Given the description of an element on the screen output the (x, y) to click on. 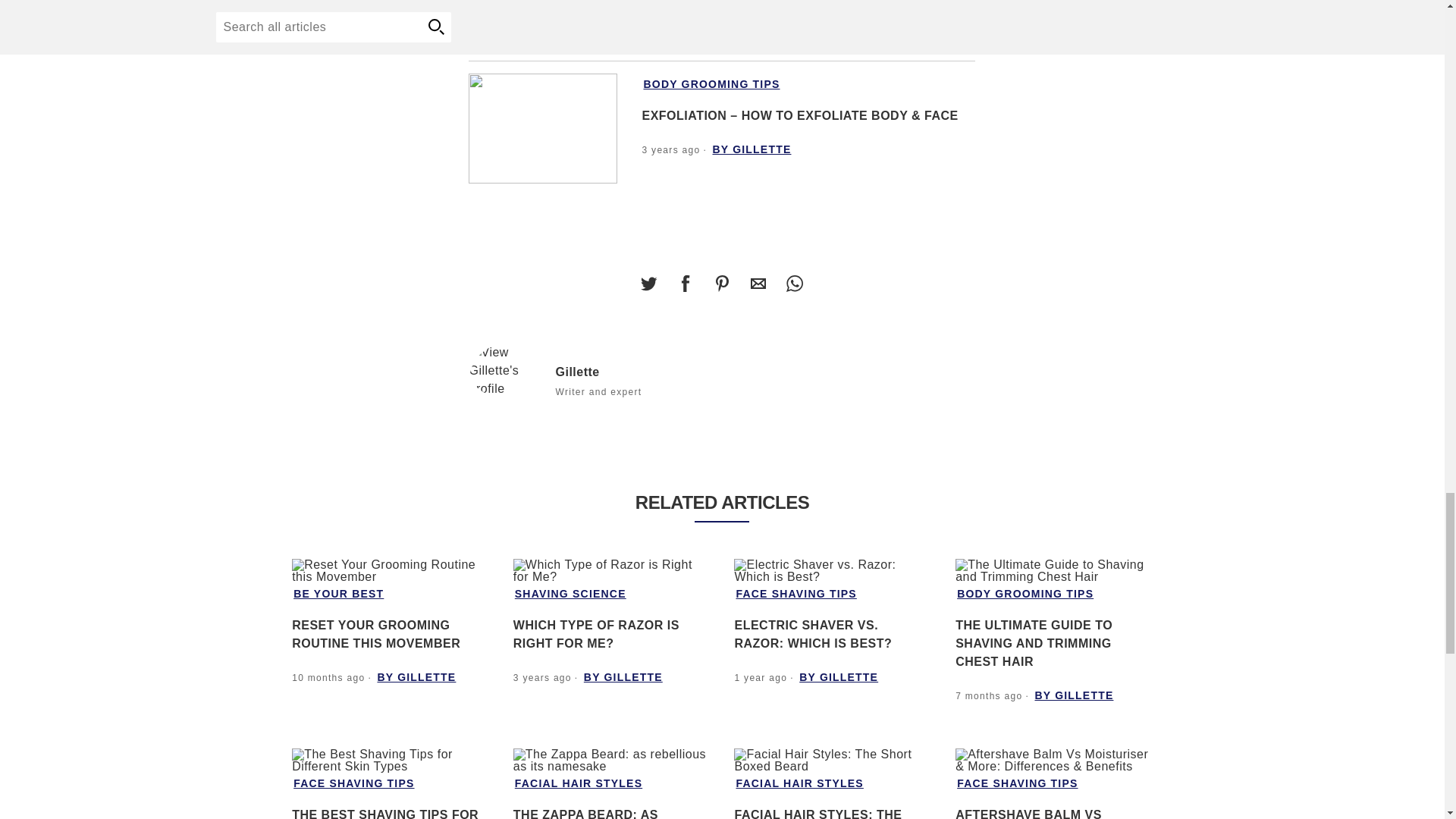
Share this on Twitter (648, 283)
Share this on Facebook (684, 283)
Share this on WhatsApp (793, 283)
Gillette (505, 370)
Share this on Pinterest (721, 283)
Share this by Email (757, 283)
